Given the description of an element on the screen output the (x, y) to click on. 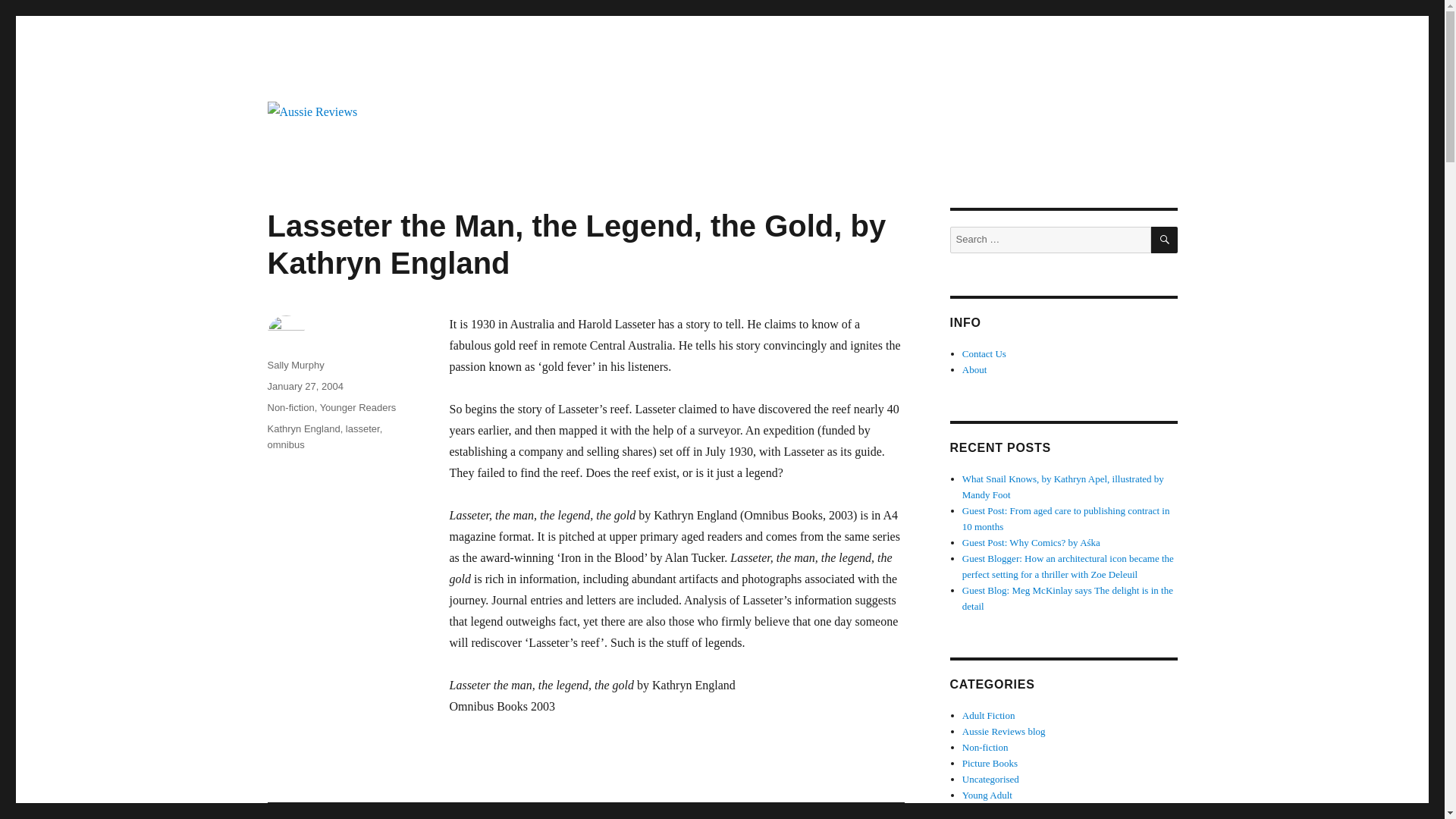
What Snail Knows, by Kathryn Apel, illustrated by Mandy Foot (1062, 486)
About (974, 369)
Aussie Reviews blog (1003, 731)
omnibus (285, 444)
Non-fiction (985, 747)
Younger Readers (358, 407)
Adult Fiction (988, 715)
Kathryn England (302, 428)
Non-fiction (290, 407)
